Given the description of an element on the screen output the (x, y) to click on. 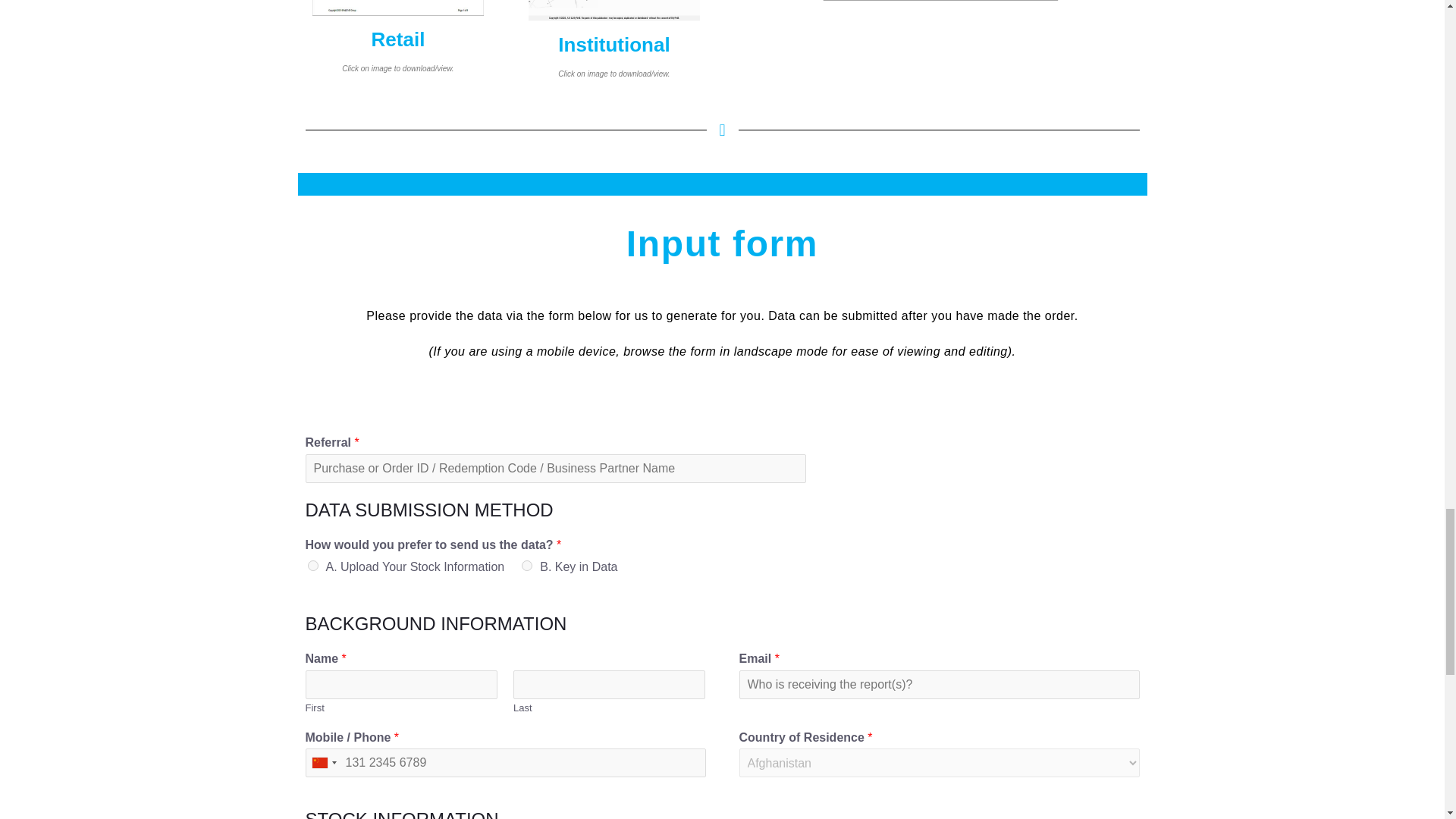
A. Upload Your Stock Information (312, 565)
B. Key in Data (526, 565)
